Given the description of an element on the screen output the (x, y) to click on. 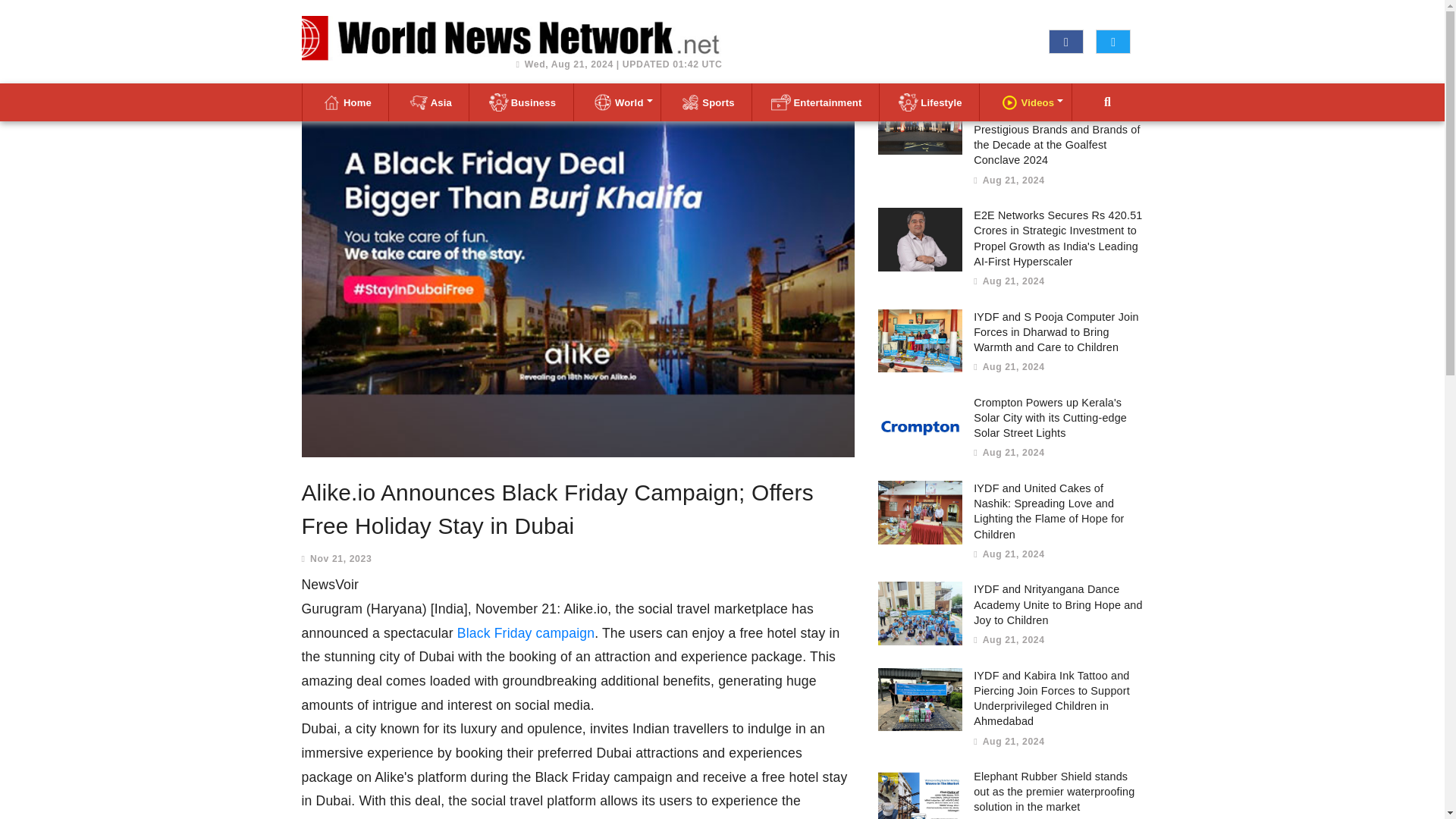
Home (344, 102)
Asia (429, 102)
World (616, 102)
Business (520, 102)
